Given the description of an element on the screen output the (x, y) to click on. 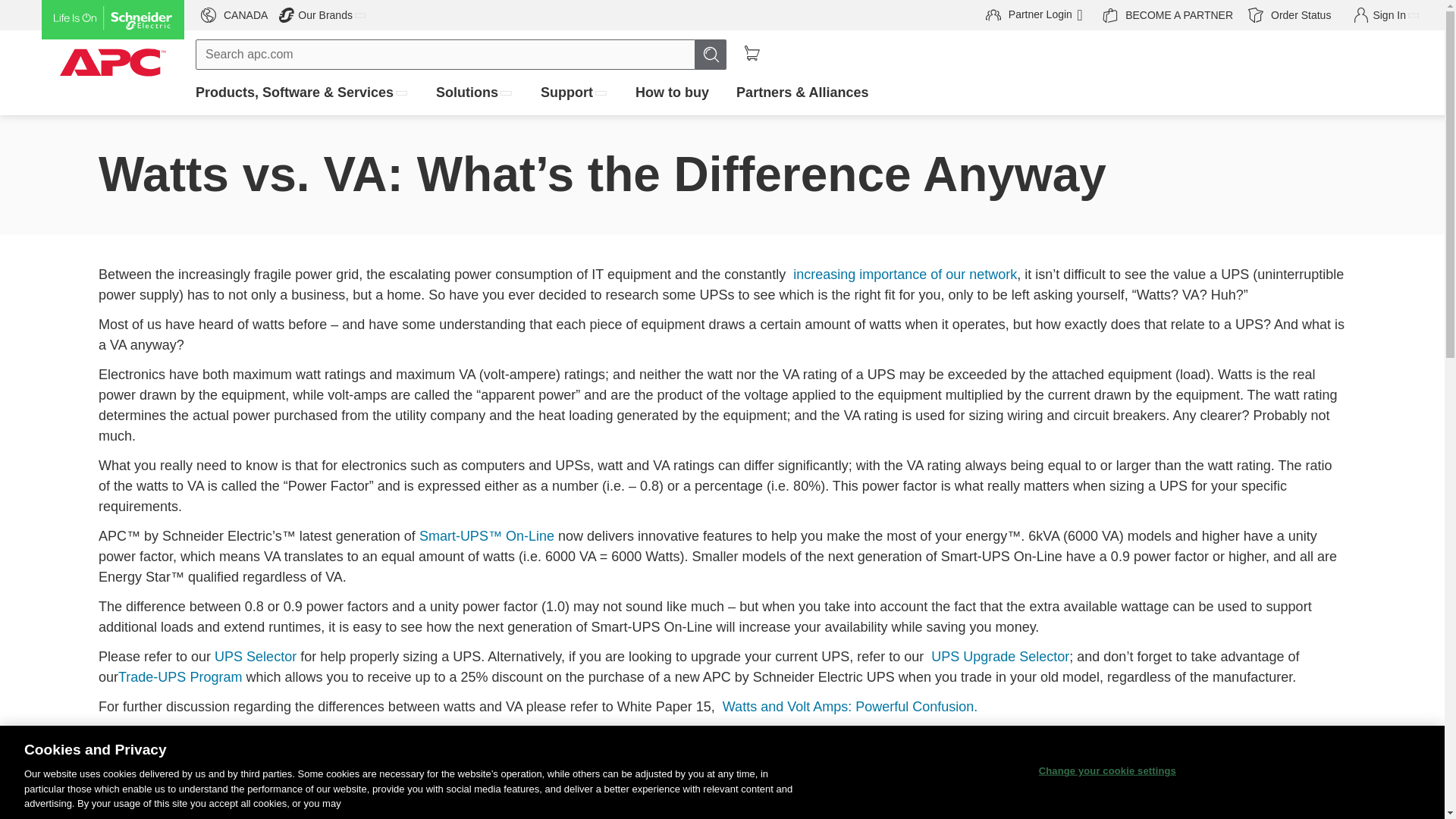
APC logo (113, 51)
Our Brands (1036, 15)
Search (323, 15)
Reset (710, 54)
Support (15, 15)
Skip To Main Content (1167, 15)
Sign In (574, 92)
How to buy (5, 2)
